Given the description of an element on the screen output the (x, y) to click on. 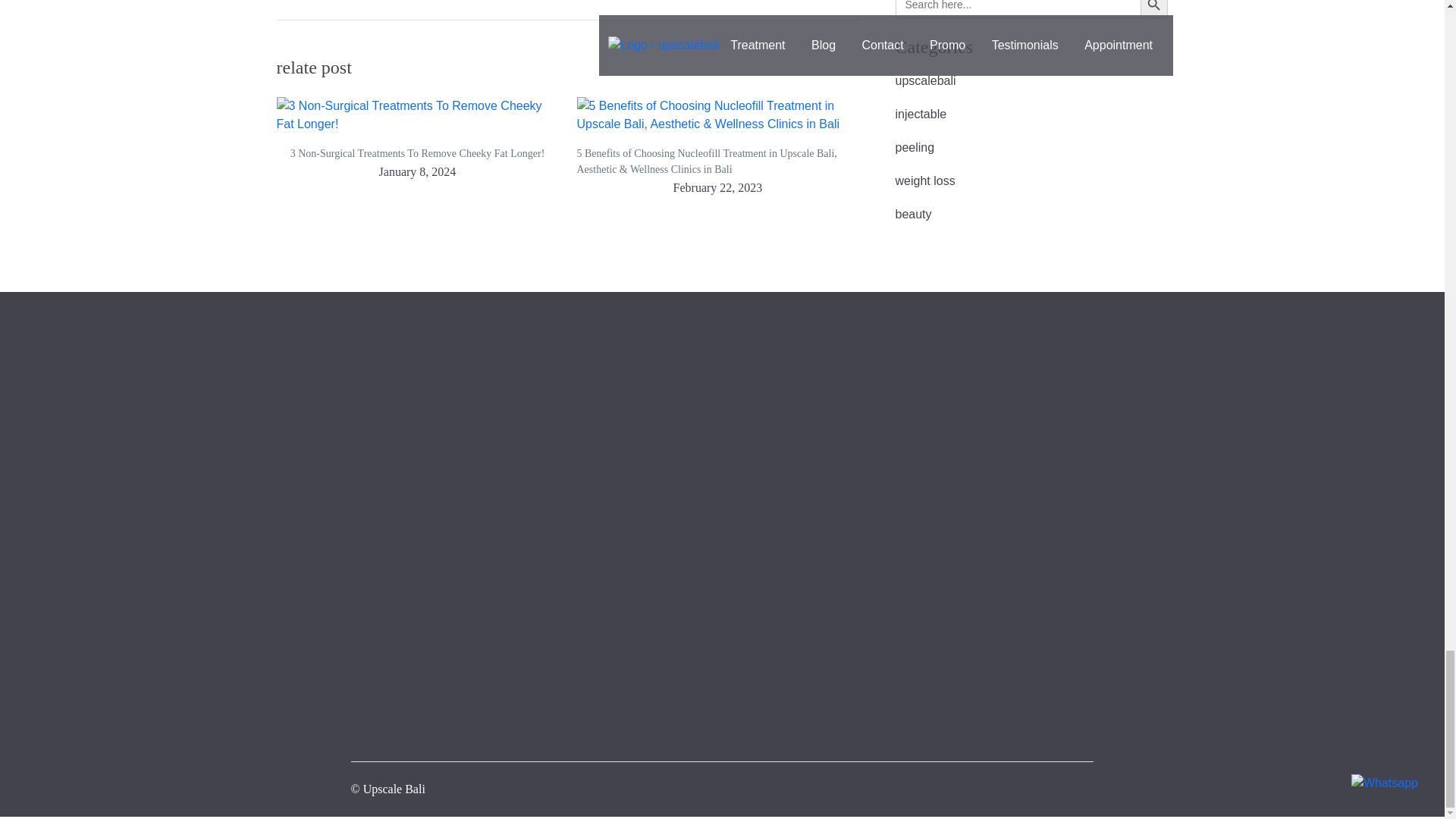
Send Message (917, 755)
